Given the description of an element on the screen output the (x, y) to click on. 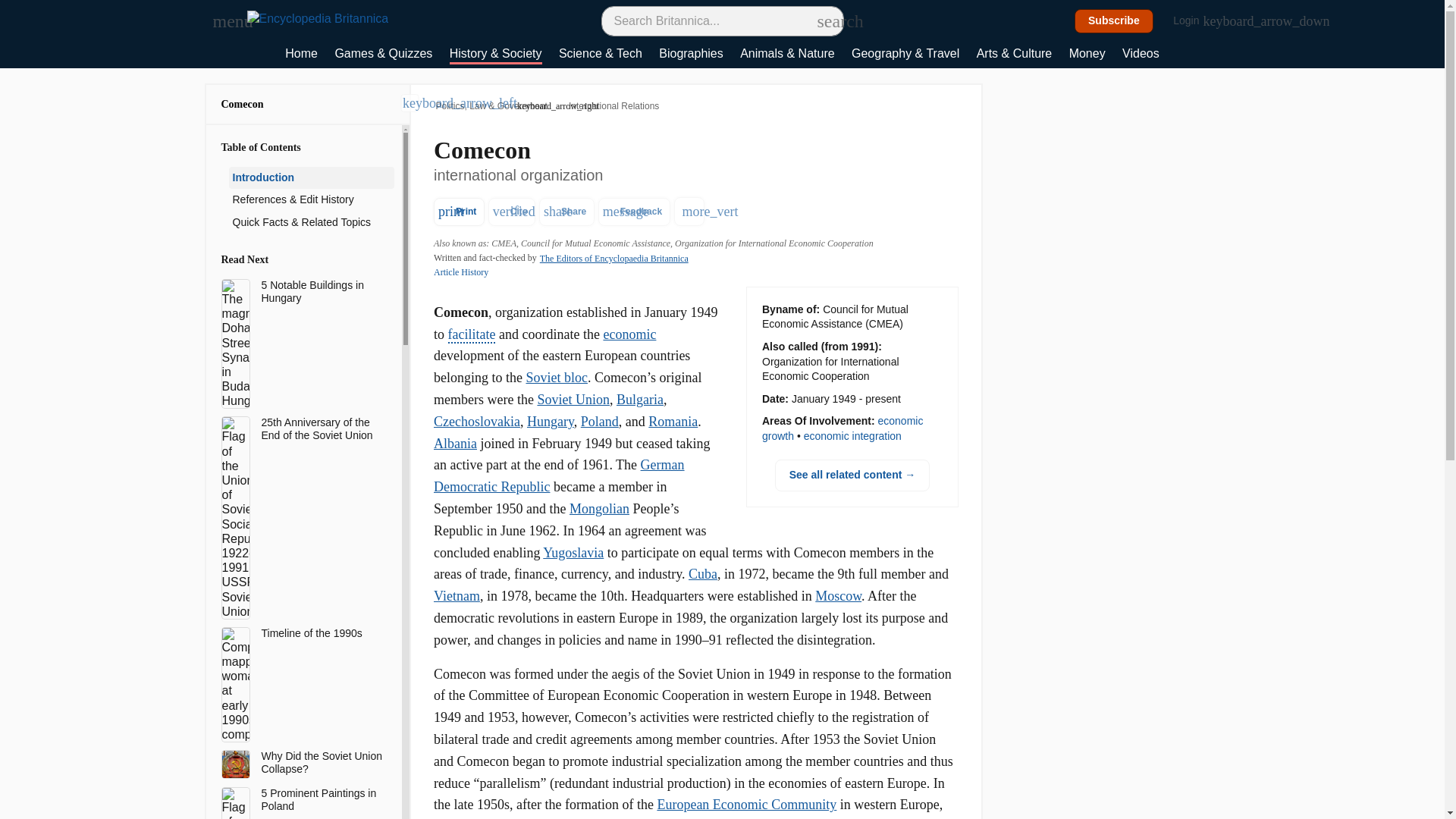
Login (1194, 20)
Click here to search (825, 20)
Subscribe (1114, 21)
